Given the description of an element on the screen output the (x, y) to click on. 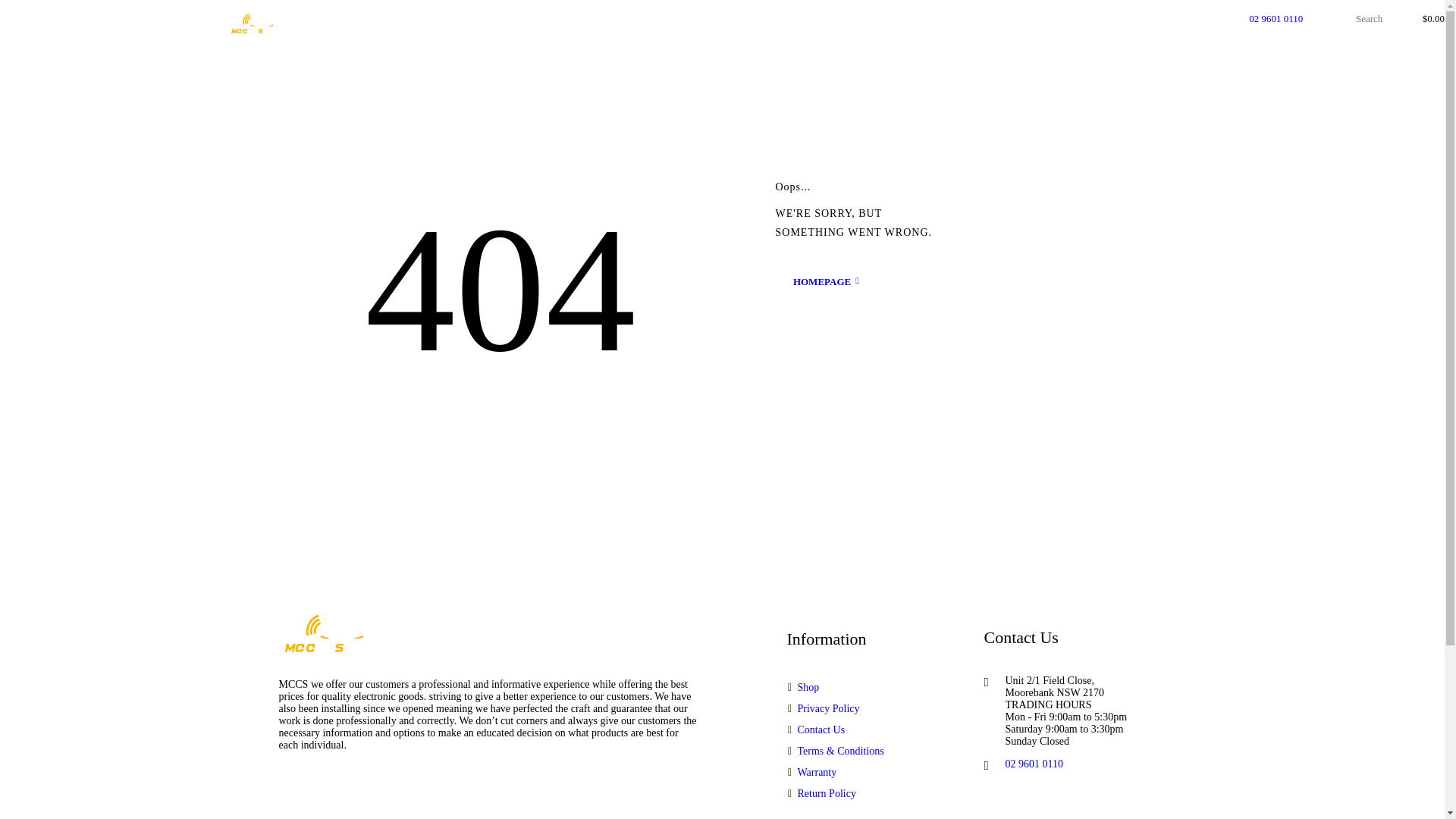
02 9601 0110 Element type: text (1034, 763)
Privacy Policy Element type: text (828, 708)
Shop Element type: text (808, 687)
Warranty Element type: text (817, 772)
02 9601 0110 Element type: text (1273, 17)
Terms & Conditions Element type: text (840, 750)
Contact Us Element type: text (821, 729)
Return Policy Element type: text (826, 793)
HOMEPAGE Element type: text (825, 282)
